Given the description of an element on the screen output the (x, y) to click on. 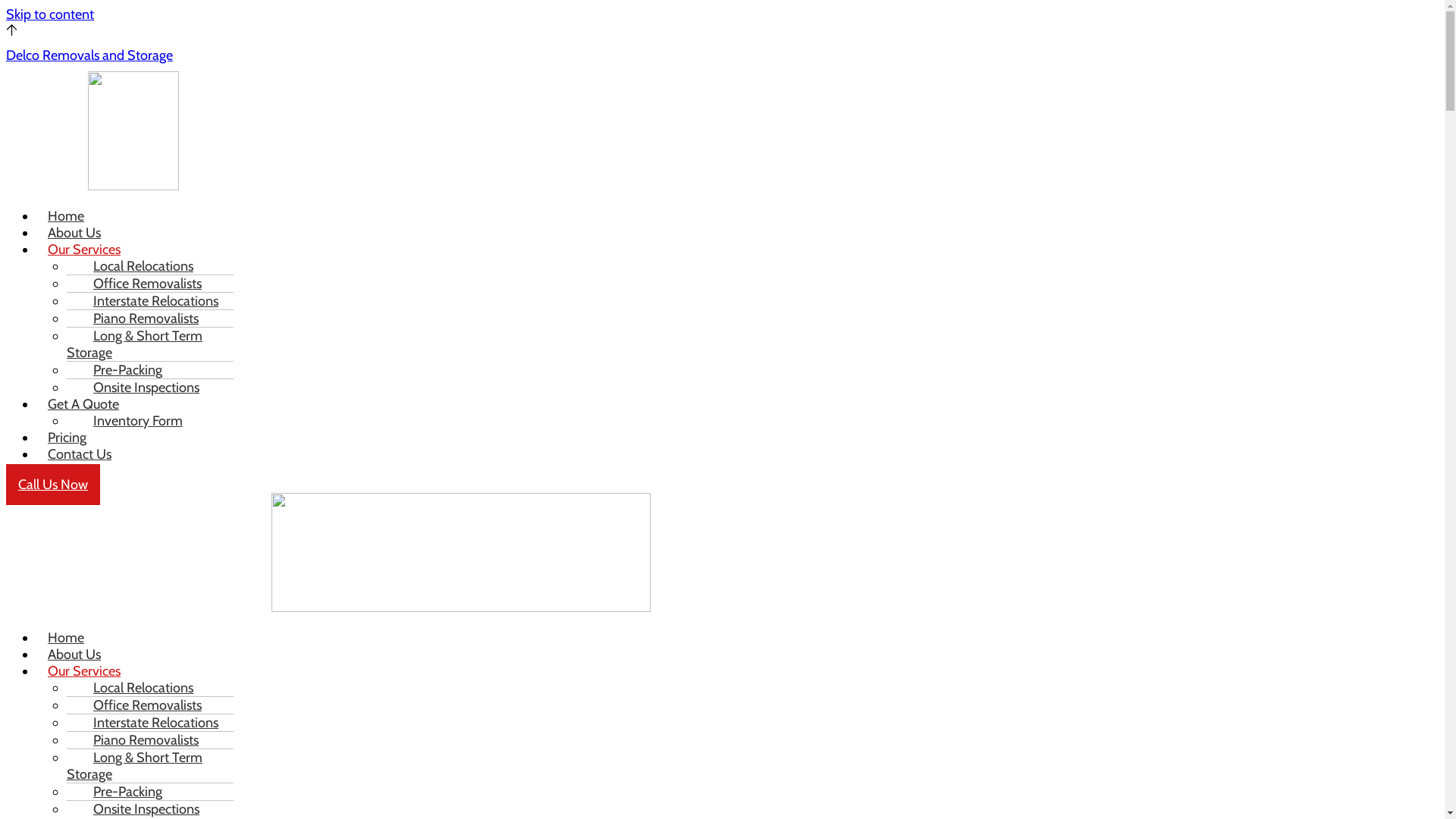
Interstate Relocations Element type: text (147, 300)
Home Element type: text (65, 215)
Skip to content Element type: text (50, 14)
Pricing Element type: text (66, 437)
About Us Element type: text (74, 232)
Go to top Element type: hover (11, 30)
Pre-Packing Element type: text (119, 791)
Delco Removals and Storage Element type: text (89, 55)
Office Removalists Element type: text (139, 283)
About Us Element type: text (74, 654)
Piano Removalists Element type: text (138, 739)
Local Relocations Element type: text (135, 265)
Interstate Relocations Element type: text (147, 722)
Office Removalists Element type: text (139, 704)
Pre-Packing Element type: text (119, 369)
Long & Short Term Storage Element type: text (134, 765)
Local Relocations Element type: text (135, 687)
Inventory Form Element type: text (130, 420)
Get A Quote Element type: text (83, 403)
Call Us Now Element type: text (53, 484)
Our Services Element type: text (83, 670)
Long & Short Term Storage Element type: text (134, 344)
Our Services Element type: text (83, 249)
Home Element type: text (65, 637)
Onsite Inspections Element type: text (138, 387)
Contact Us Element type: text (79, 453)
Piano Removalists Element type: text (138, 318)
